Given the description of an element on the screen output the (x, y) to click on. 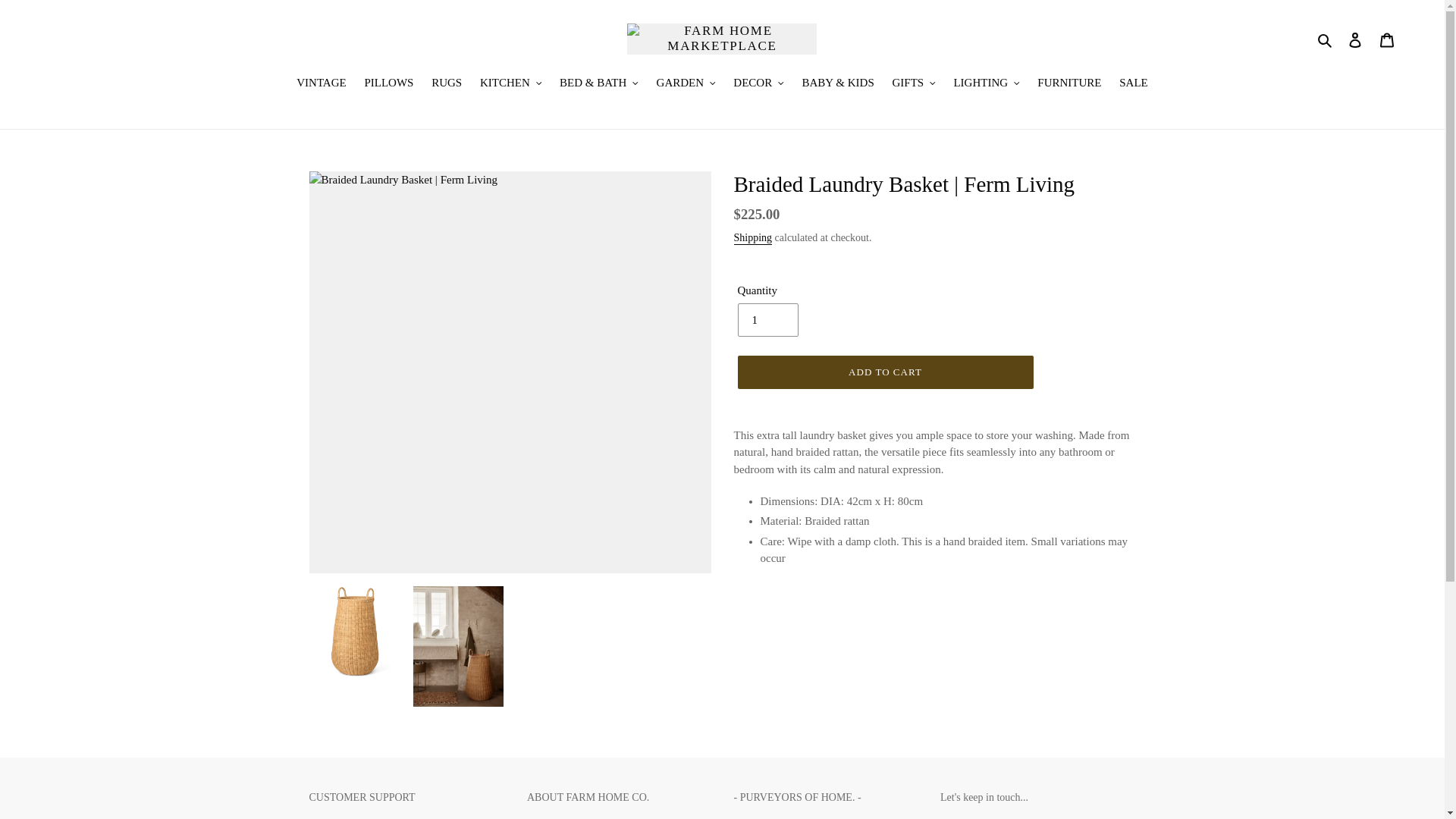
1 (766, 319)
Log in (1355, 38)
Search (1326, 38)
Cart (1387, 38)
